Given the description of an element on the screen output the (x, y) to click on. 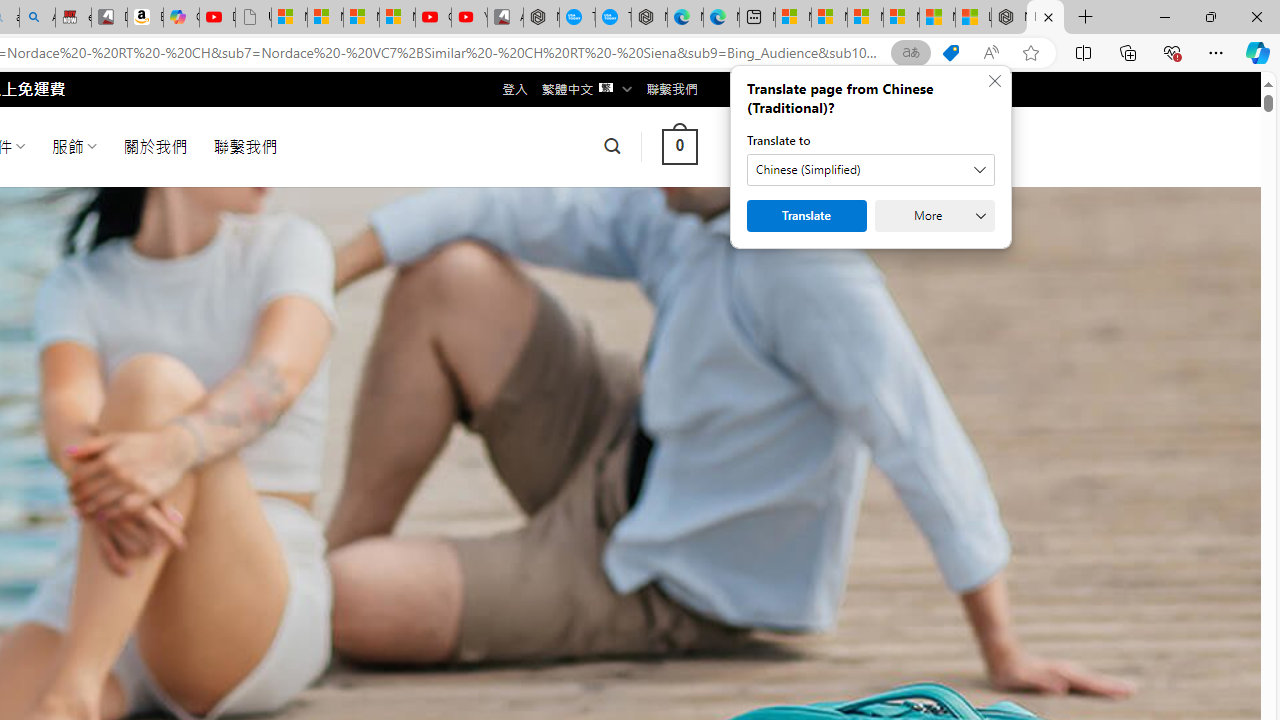
This site has coupons! Shopping in Microsoft Edge (950, 53)
Nordace - My Account (541, 17)
Translate to (870, 169)
